Given the description of an element on the screen output the (x, y) to click on. 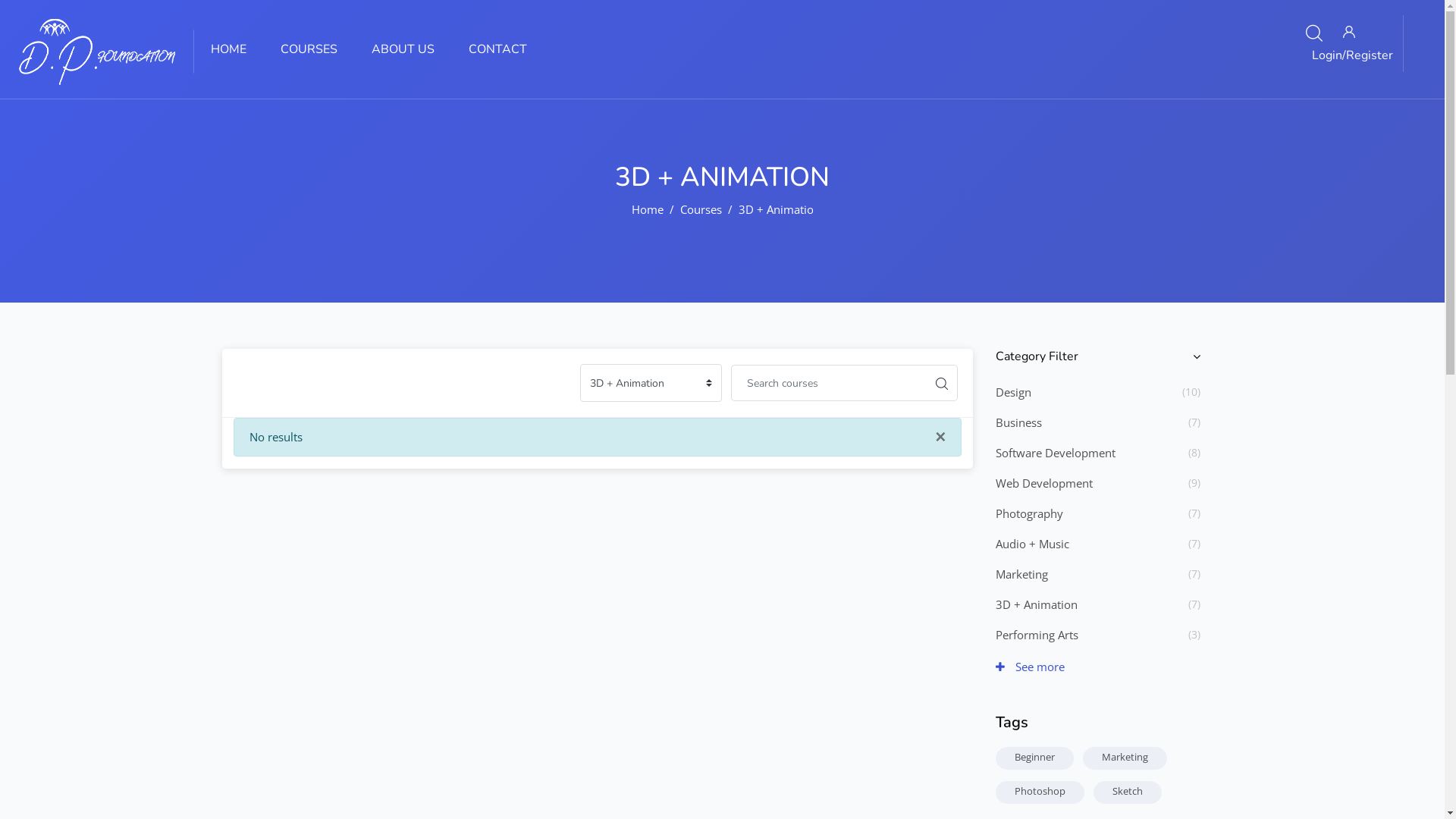
Courses Element type: text (700, 209)
Business
(7) Element type: text (1017, 421)
ABOUT US Element type: text (412, 48)
3D + Animation Element type: text (779, 209)
Skip Tags Element type: text (982, 712)
Category Filter Element type: text (1096, 356)
CONTACT Element type: text (507, 48)
Photoshop Element type: text (1039, 790)
Beginner Element type: text (1034, 756)
HOME Element type: text (238, 48)
Marketing
(7) Element type: text (1020, 573)
Audio + Music
(7) Element type: text (1031, 543)
Software Development
(8) Element type: text (1054, 452)
Sketch Element type: text (1126, 790)
Home Element type: text (647, 209)
COURSES Element type: text (318, 48)
Design
(10) Element type: text (1012, 391)
Skip [Cocoon] Course Categories List Element type: text (982, 347)
Performing Arts
(3) Element type: text (1035, 634)
See more Element type: text (1028, 666)
3D + Animation
(7) Element type: text (1035, 603)
Login/Register Element type: text (1348, 43)
Web Development
(9) Element type: text (1043, 482)
Photography
(7) Element type: text (1028, 512)
Marketing Element type: text (1124, 756)
